Given the description of an element on the screen output the (x, y) to click on. 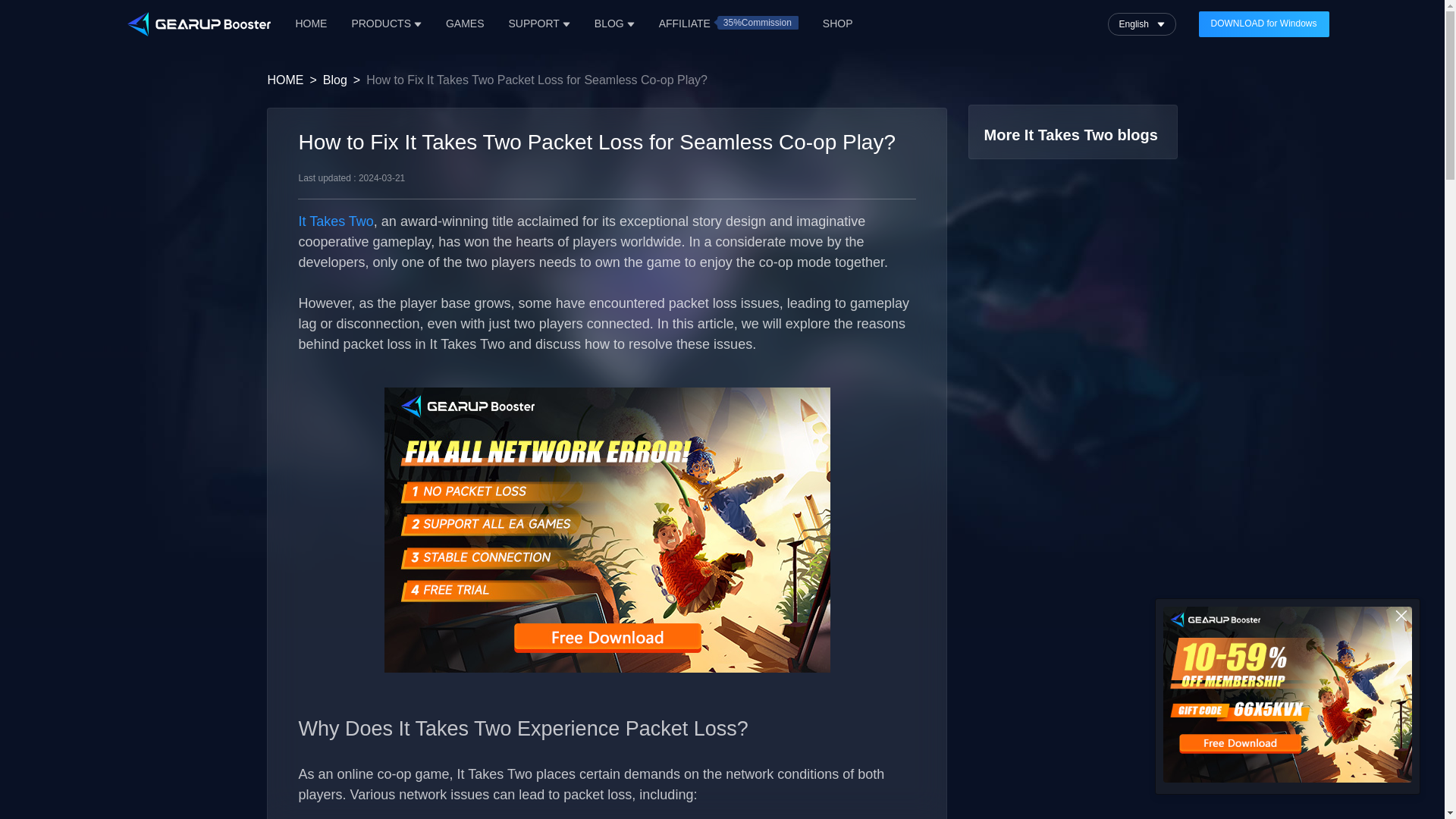
SHOP (837, 23)
SUPPORT (538, 23)
AFFILIATE (684, 23)
BLOG (614, 23)
PRODUCTS (386, 23)
GAMES (464, 23)
HOME (310, 23)
